Given the description of an element on the screen output the (x, y) to click on. 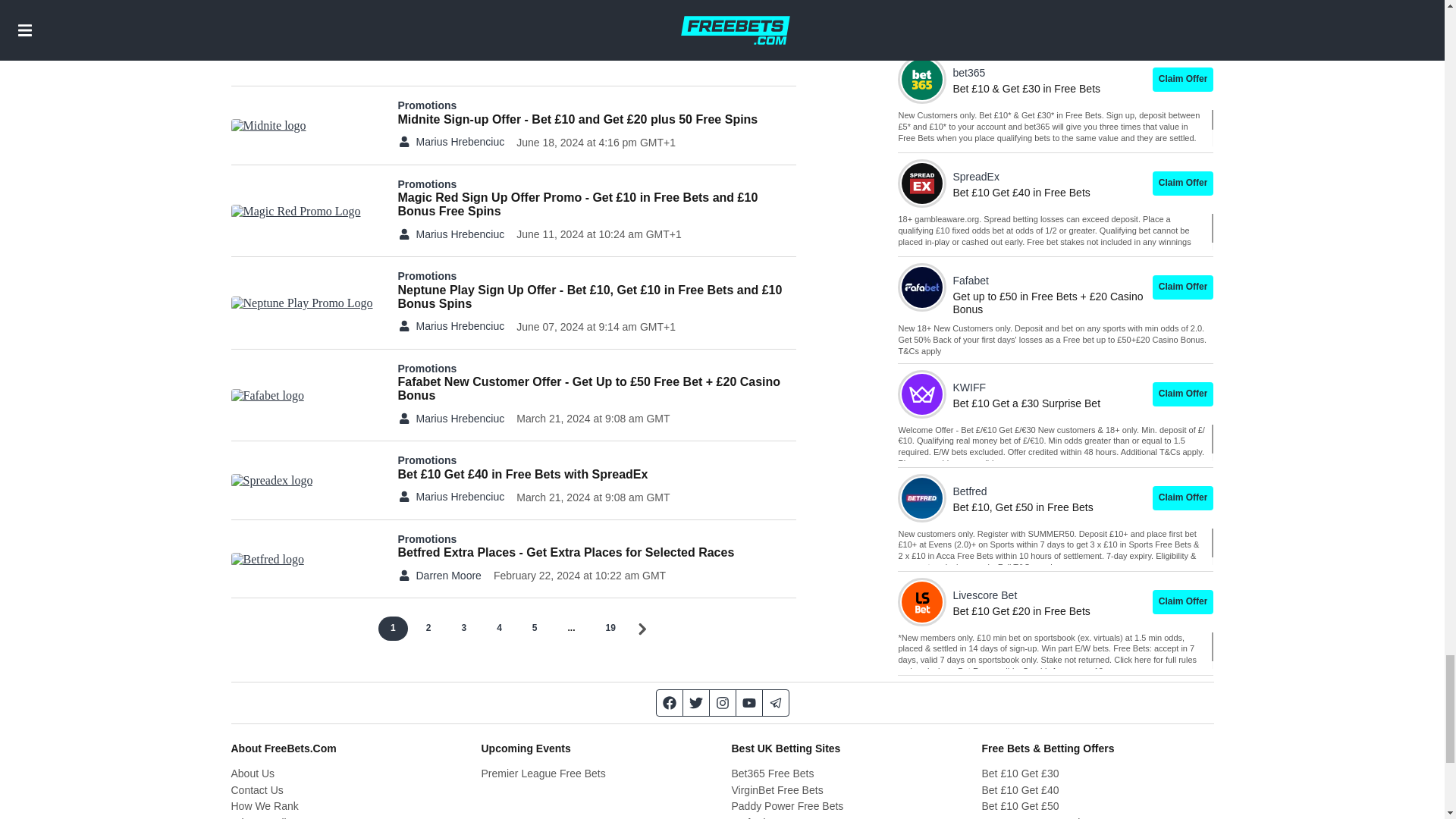
Telegram (775, 702)
Instagram page (723, 702)
Youtube page (748, 702)
Facebook page (669, 702)
Twitter feed (695, 702)
